Given the description of an element on the screen output the (x, y) to click on. 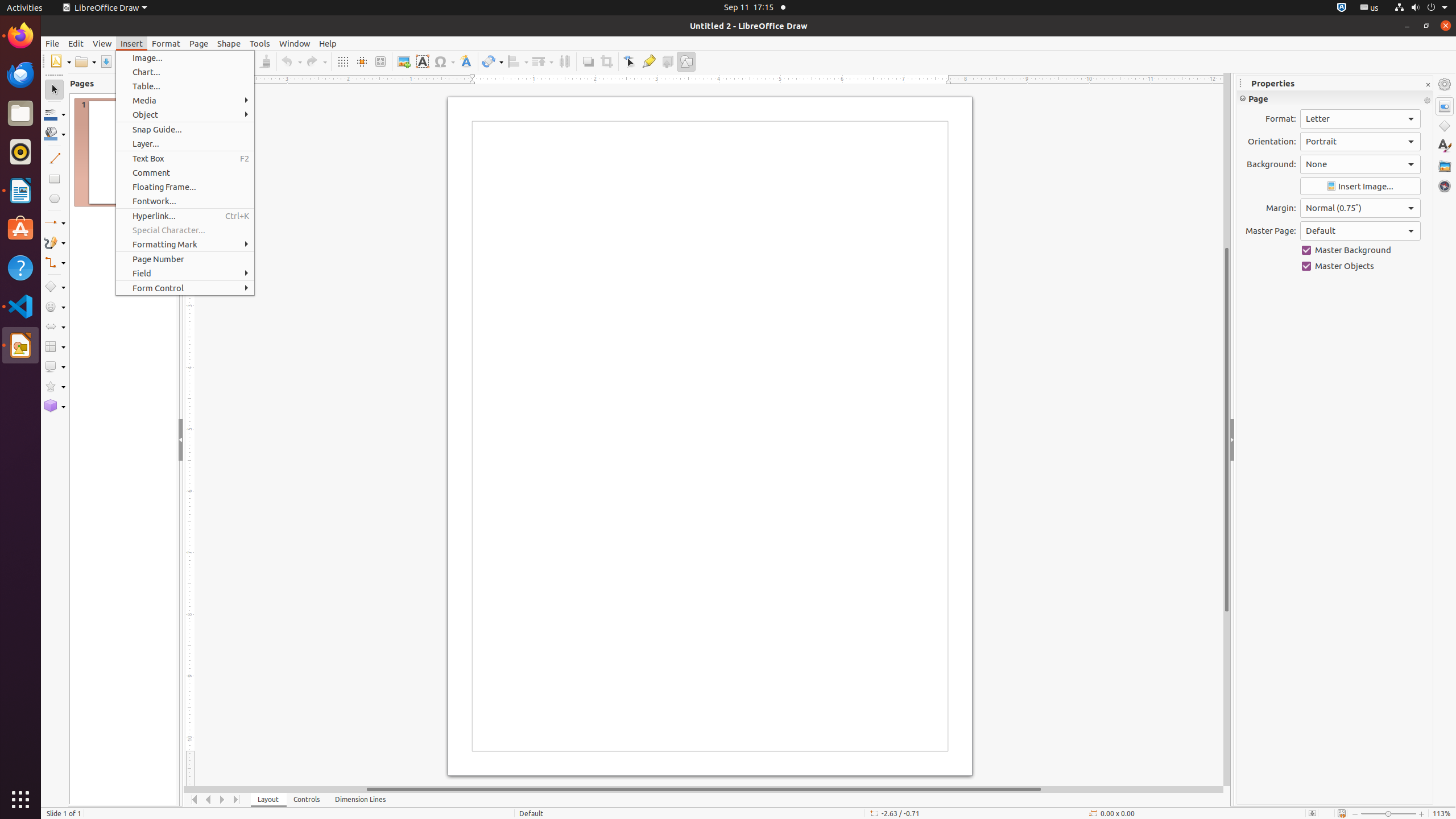
Shadow Element type: toggle-button (587, 61)
Visual Studio Code Element type: push-button (20, 306)
Page Element type: menu (198, 43)
View Element type: menu (102, 43)
Ellipse Element type: push-button (53, 198)
